Given the description of an element on the screen output the (x, y) to click on. 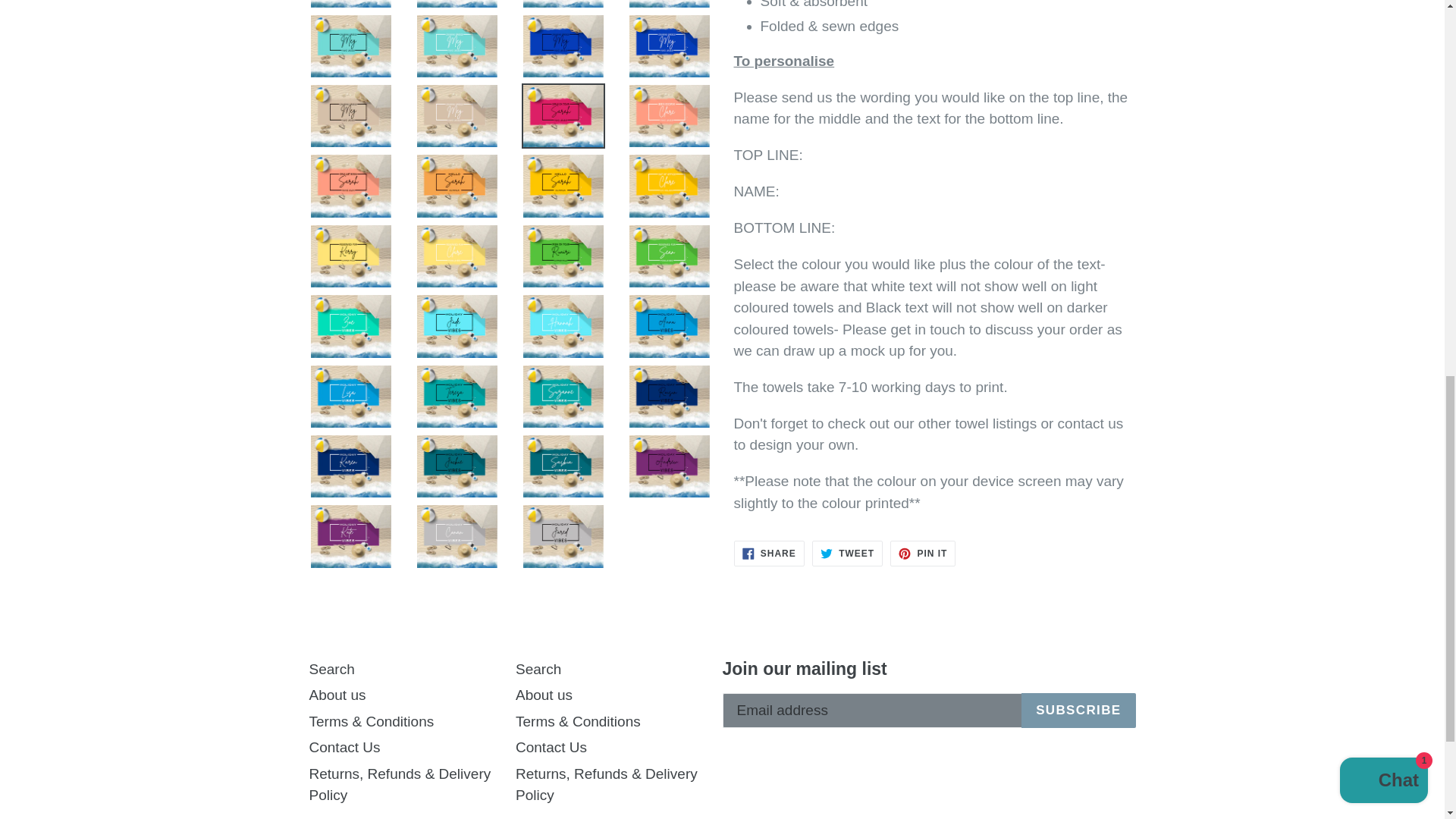
Share on Facebook (769, 553)
Tweet on Twitter (847, 553)
Pin on Pinterest (922, 553)
